Given the description of an element on the screen output the (x, y) to click on. 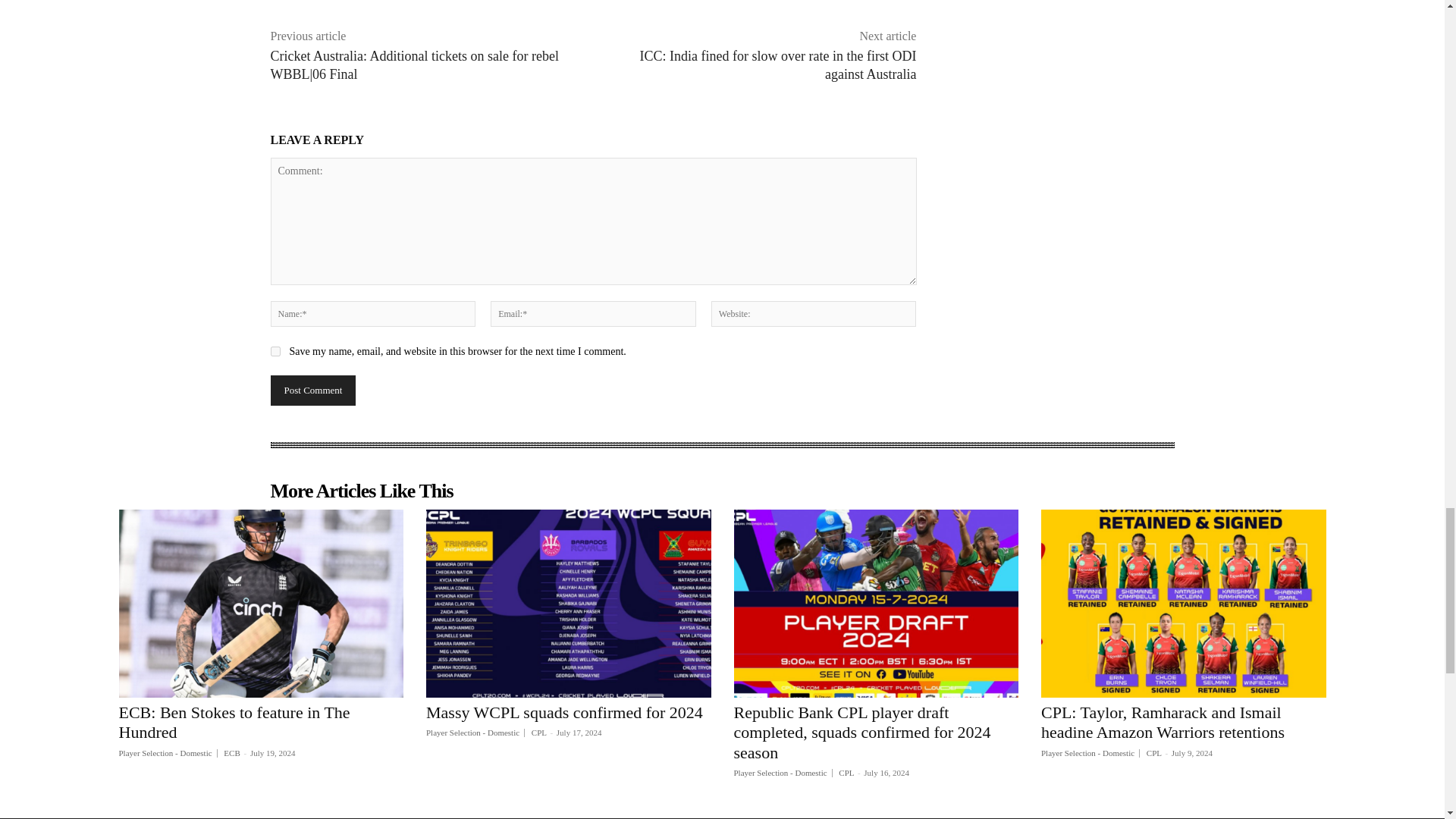
yes (274, 351)
Post Comment (312, 390)
